Given the description of an element on the screen output the (x, y) to click on. 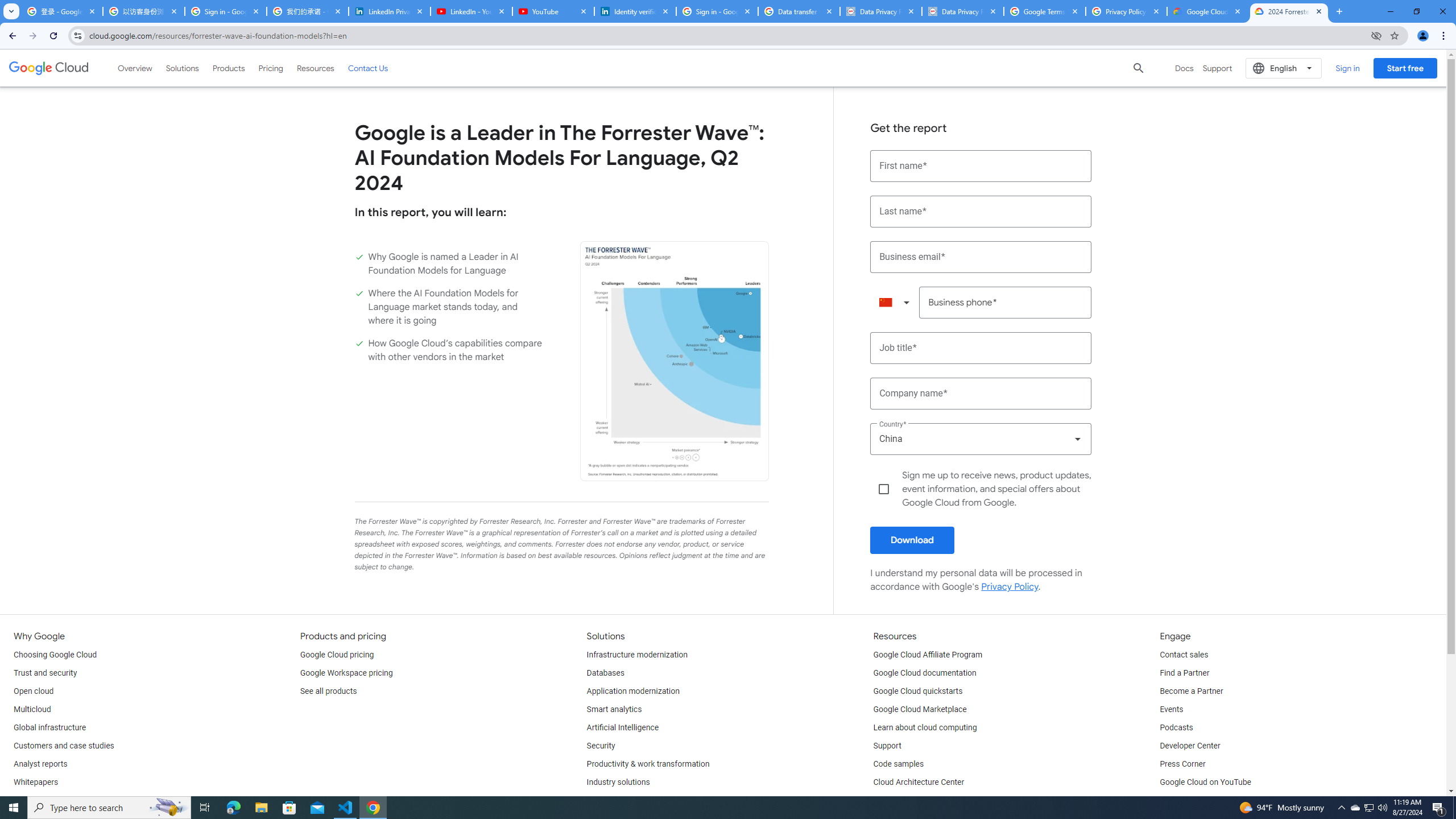
Multicloud (31, 710)
See all products (327, 691)
Google Cloud Marketplace (919, 710)
Business phone* (1005, 302)
Download (912, 539)
Contact sales (1183, 655)
Company name* (981, 393)
LinkedIn Privacy Policy (389, 11)
Application modernization (632, 691)
Country China (981, 439)
Docs (1183, 67)
